Given the description of an element on the screen output the (x, y) to click on. 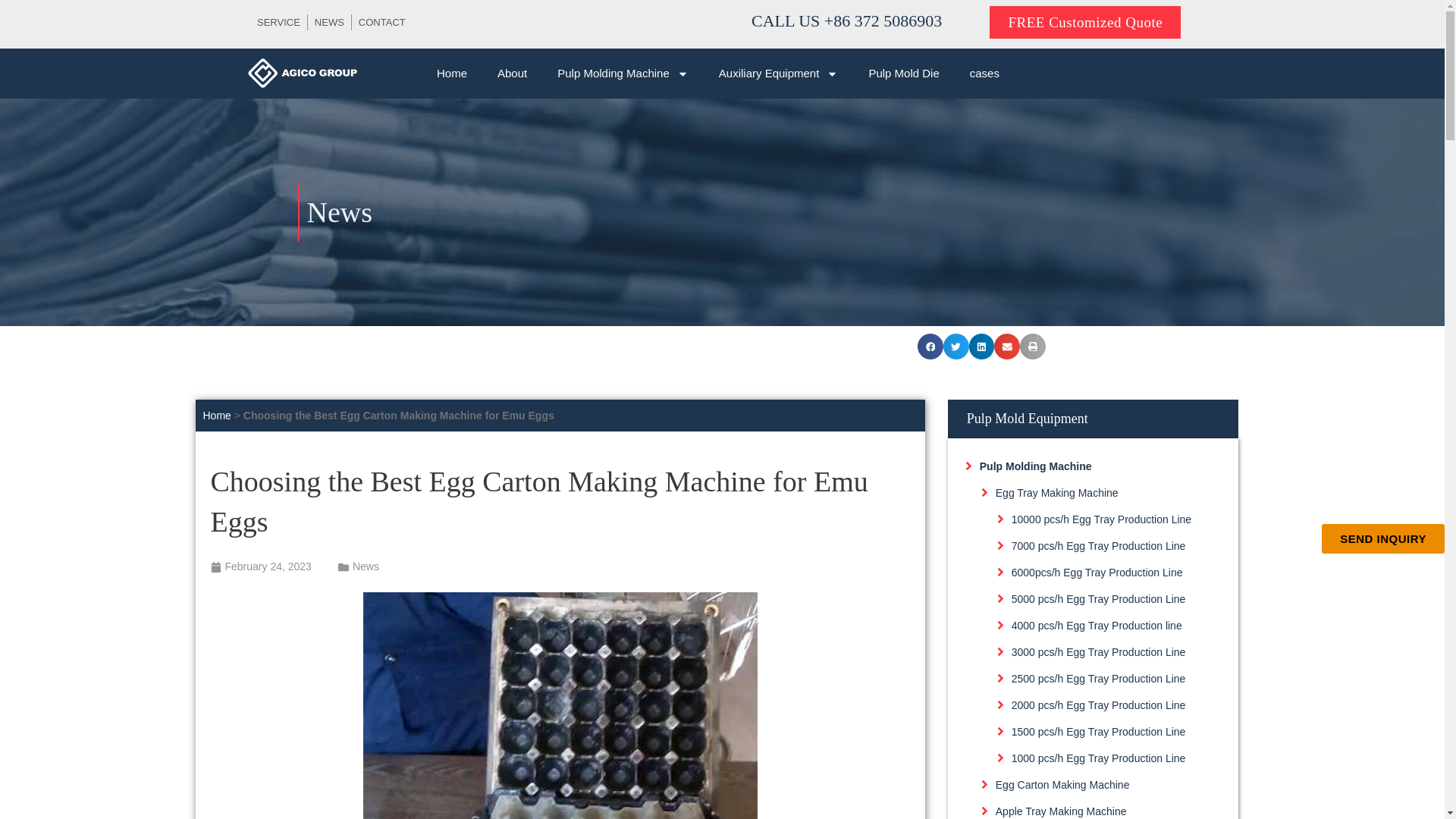
CONTACT (382, 22)
SERVICE (278, 22)
About (511, 73)
Home (451, 73)
Auxiliary Equipment (778, 73)
Pulp Molding Machine (622, 73)
FREE Customized Quote (1085, 21)
NEWS (328, 22)
